Given the description of an element on the screen output the (x, y) to click on. 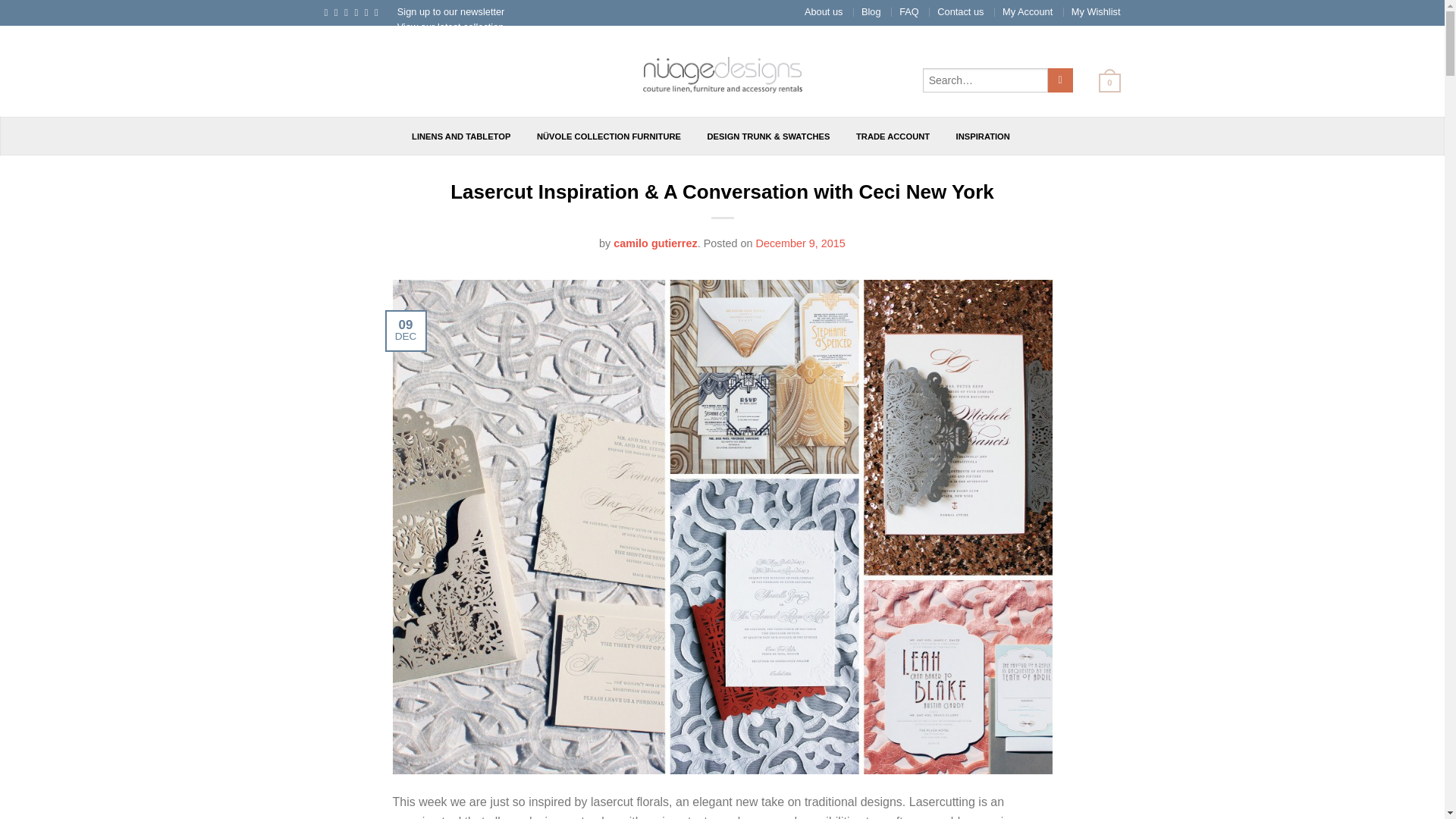
12:28 pm (799, 243)
My Account (1027, 11)
View our latest collection (450, 26)
0 (1103, 81)
Blog (870, 11)
Contact us (960, 11)
My Wishlist (1096, 11)
View all posts by camilo gutierrez (654, 243)
FAQ (908, 11)
Sign up to our newsletter (451, 11)
About us (824, 11)
LINENS AND TABLETOP (461, 135)
